Given the description of an element on the screen output the (x, y) to click on. 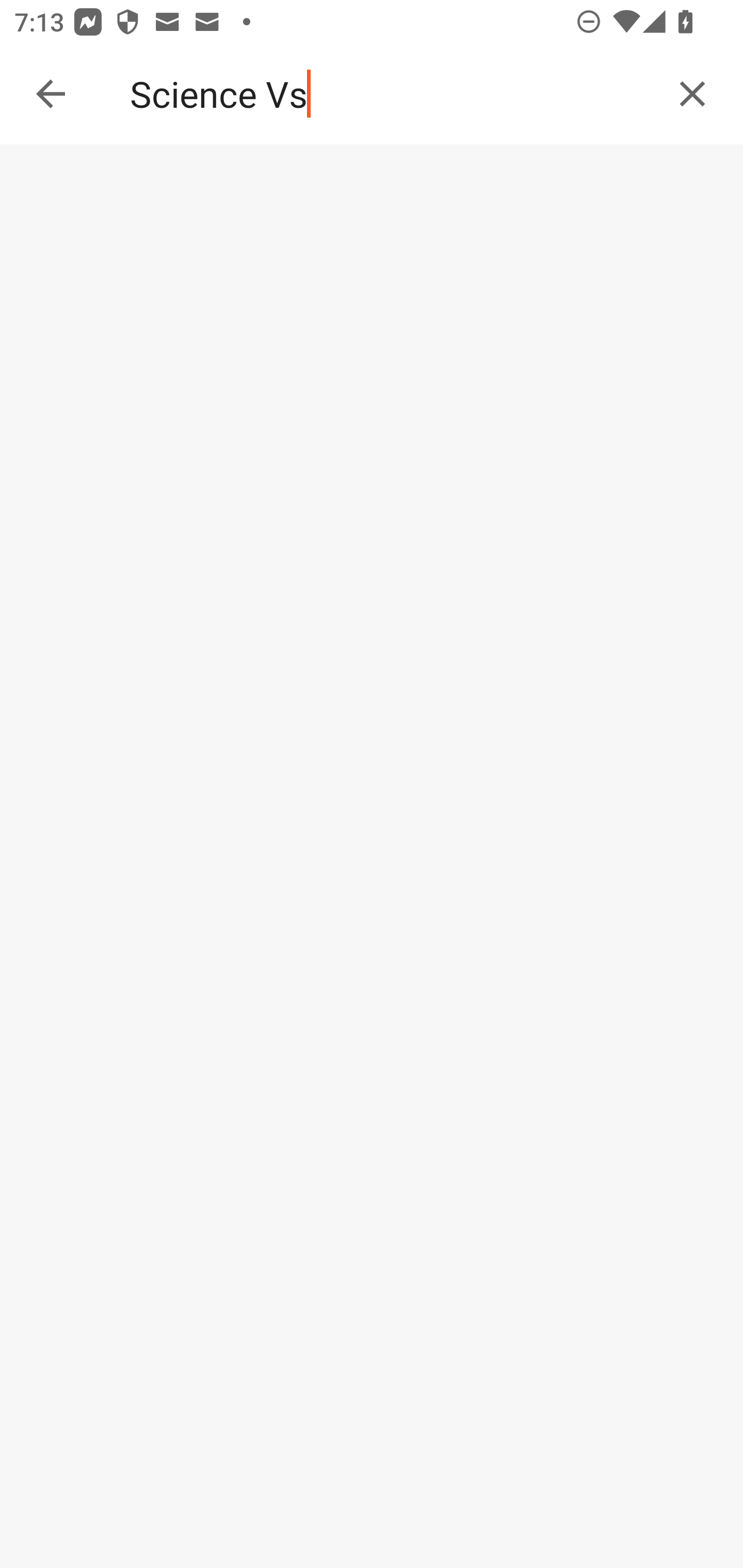
Collapse (50, 93)
Clear query (692, 93)
Science Vs (393, 94)
